Given the description of an element on the screen output the (x, y) to click on. 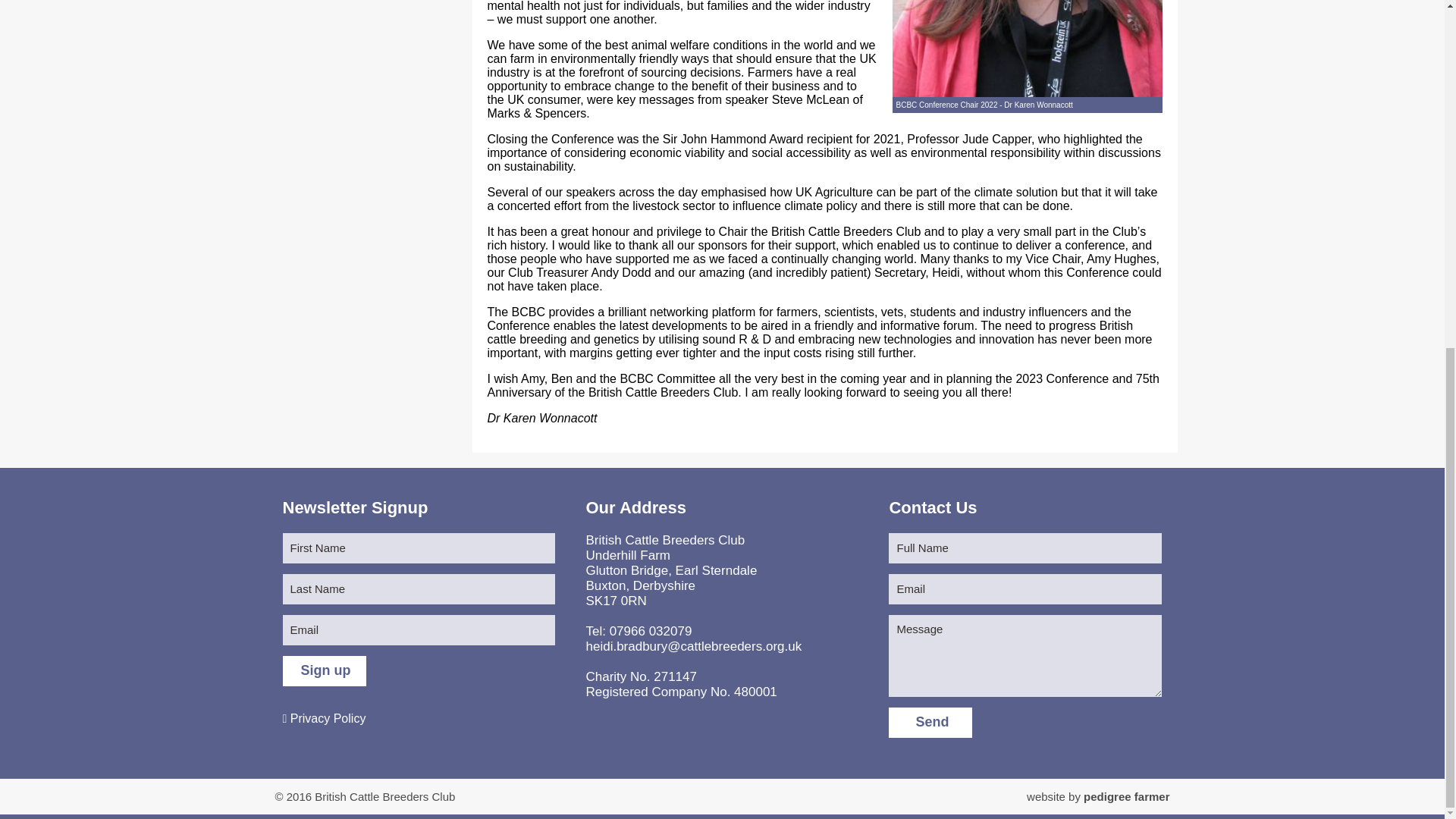
Privacy Policy (323, 717)
pedigree farmer (1126, 796)
Sign up (323, 671)
Sign up (323, 671)
Send (930, 722)
Send (930, 722)
